Given the description of an element on the screen output the (x, y) to click on. 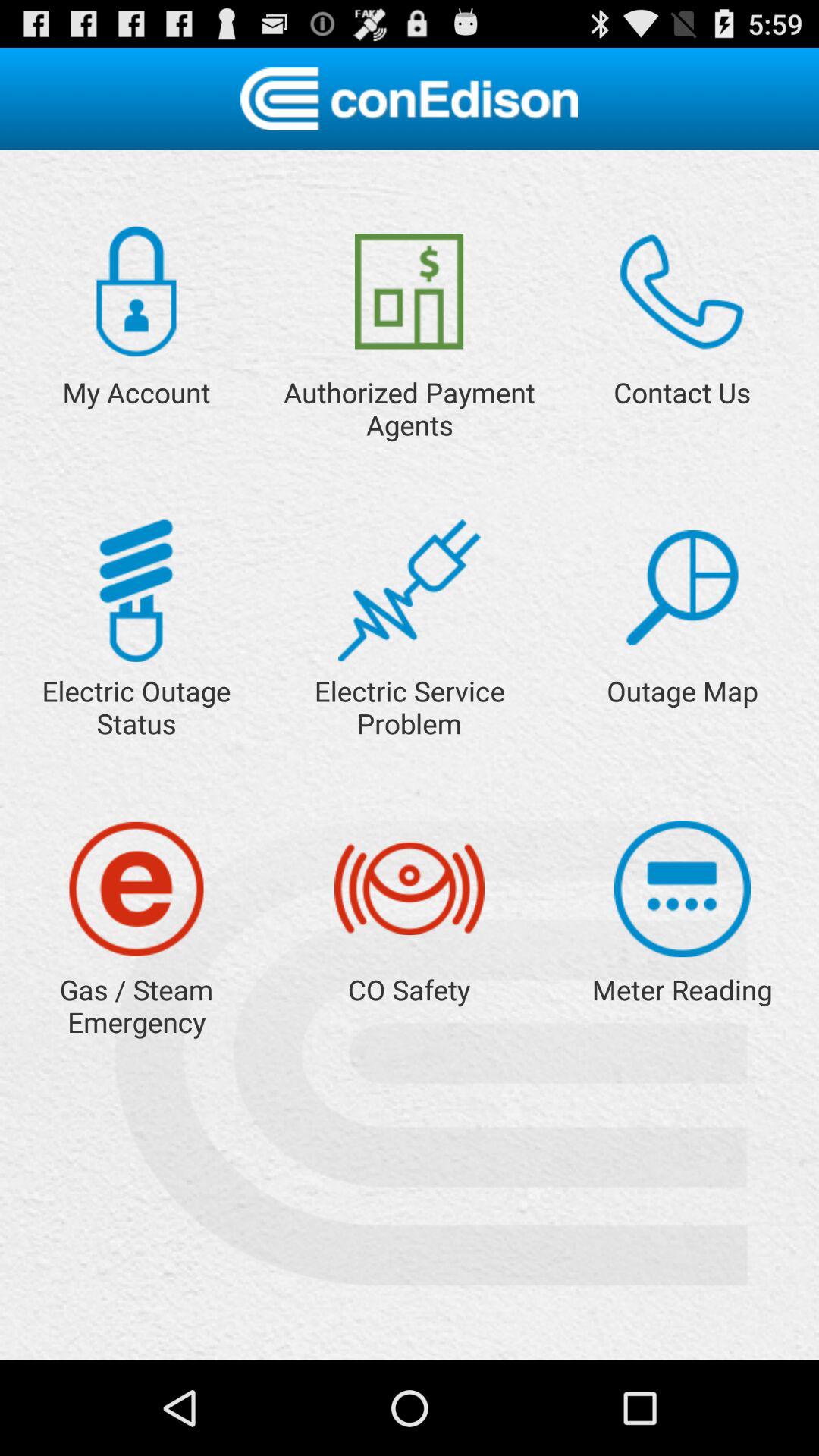
search authorized payment agents (408, 291)
